Given the description of an element on the screen output the (x, y) to click on. 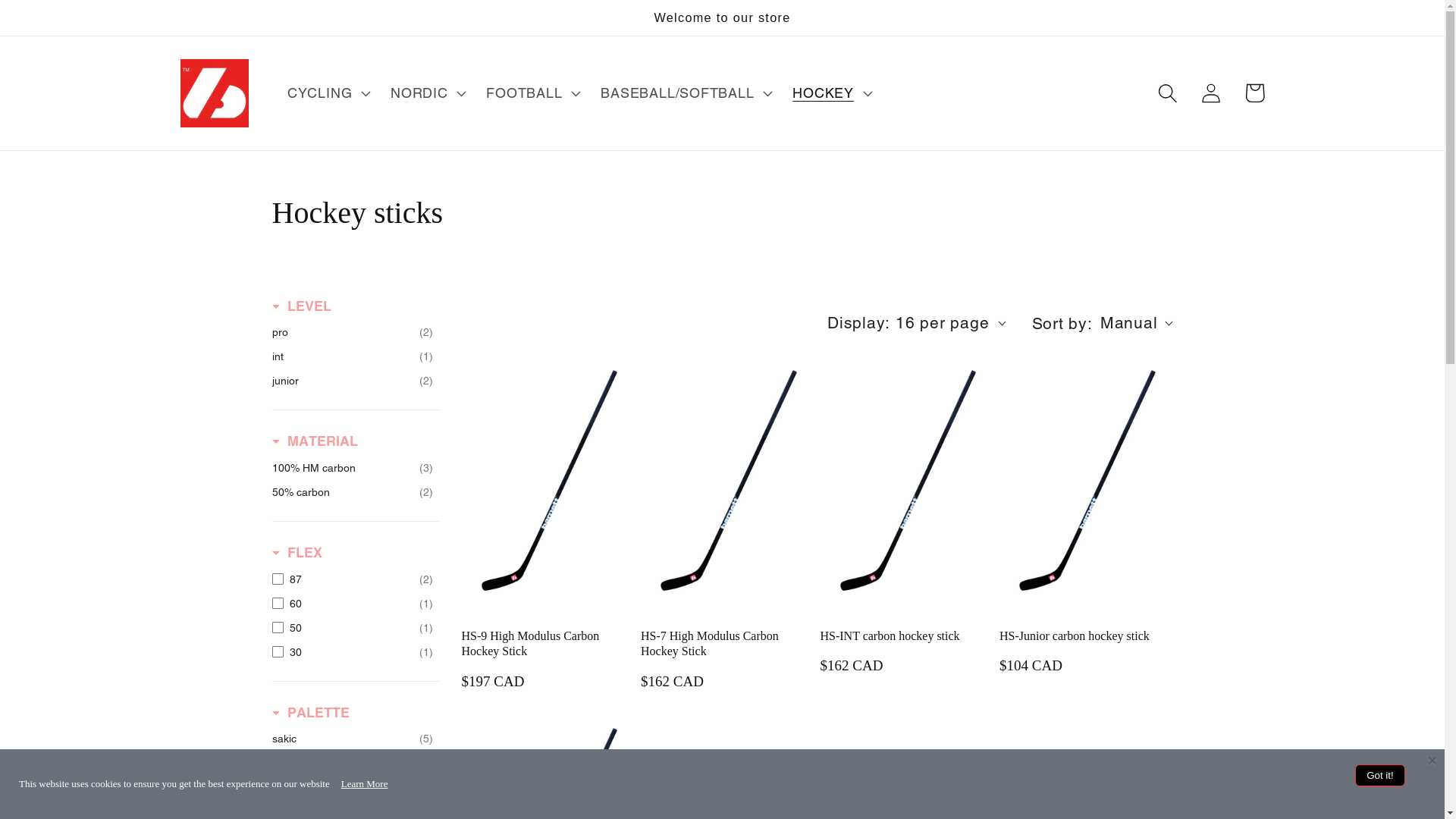
HS-9 High Modulus Carbon Hockey Stick
$197 CAD Element type: text (547, 661)
MATERIAL Element type: text (314, 441)
HS-INT carbon hockey stick
$162 CAD Element type: text (907, 653)
junior
(2) Element type: text (351, 380)
Log in Element type: text (1211, 92)
Got it! Element type: text (1380, 775)
HS-Junior carbon hockey stick
$104 CAD Element type: text (1086, 653)
int
(1) Element type: text (351, 356)
50% carbon
(2) Element type: text (351, 491)
lidstrom
(2) Element type: text (351, 762)
pro
(2) Element type: text (351, 331)
60
(1) Element type: text (351, 603)
30
(1) Element type: text (351, 651)
50
(1) Element type: text (351, 627)
Cart Element type: text (1254, 92)
87
(2) Element type: text (351, 578)
LEVEL Element type: text (300, 306)
PALETTE Element type: text (309, 712)
HS-7 High Modulus Carbon Hockey Stick
$162 CAD Element type: text (727, 661)
Shopify online store chat Element type: hover (56, 780)
sakic
(5) Element type: text (351, 738)
Learn More Element type: text (364, 783)
FLEX Element type: text (296, 552)
100% HM carbon
(3) Element type: text (351, 467)
